Given the description of an element on the screen output the (x, y) to click on. 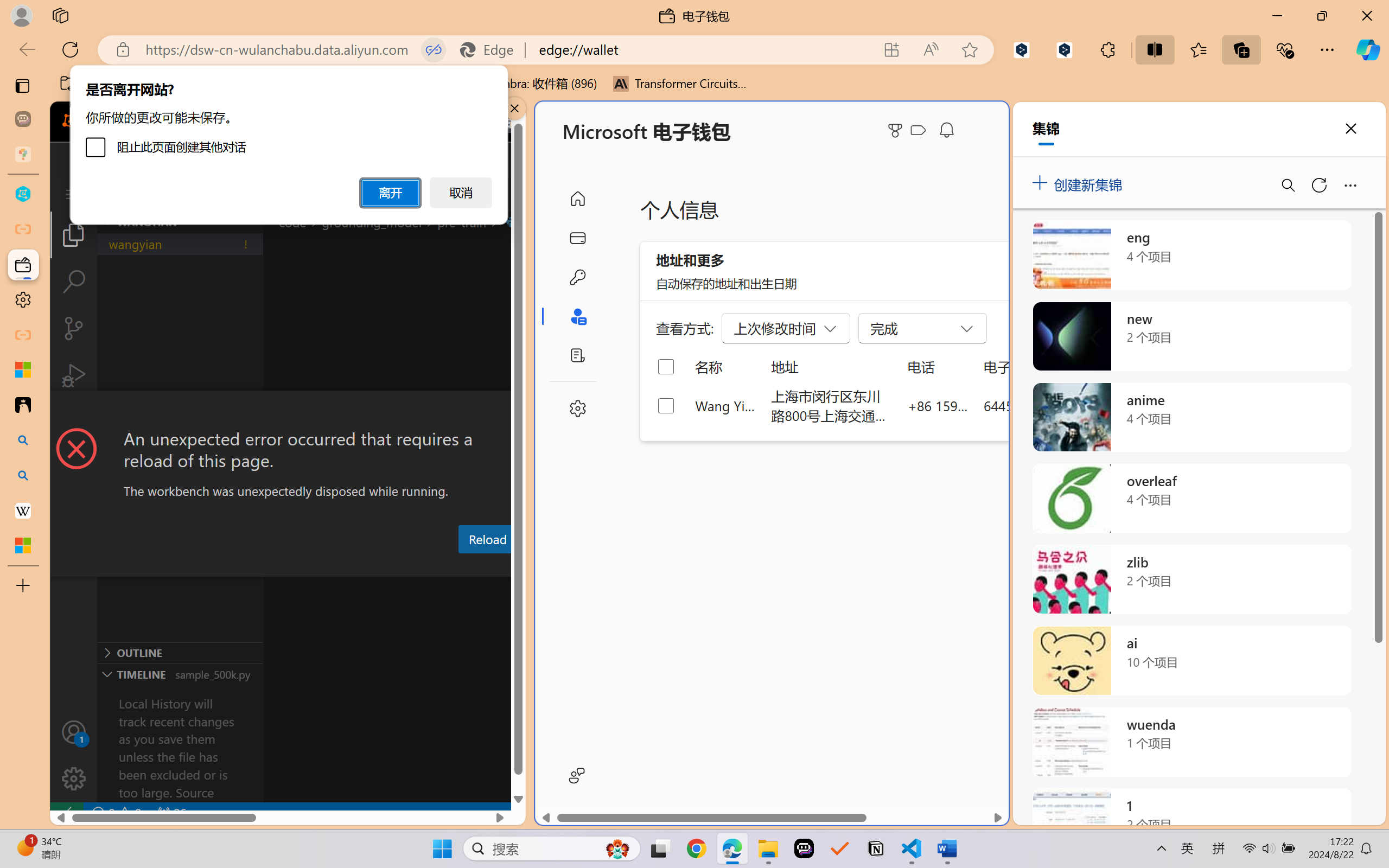
Output (Ctrl+Shift+U) (377, 565)
Outline Section (179, 652)
Terminal (Ctrl+`) (553, 565)
Class: actions-container (287, 410)
Accounts - Sign in requested (73, 732)
